Given the description of an element on the screen output the (x, y) to click on. 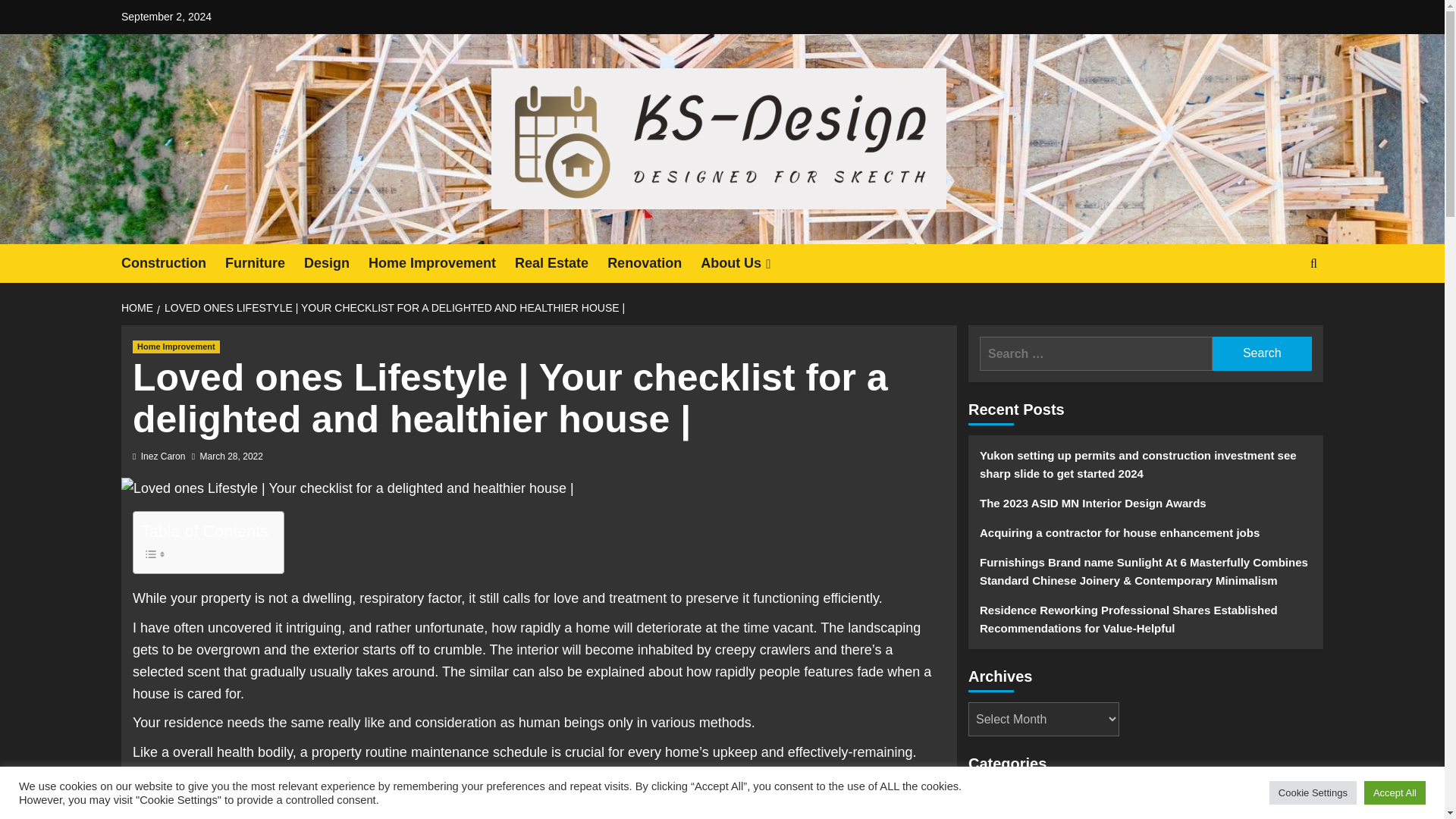
Search (1278, 309)
Inez Caron (163, 456)
Renovation (653, 263)
Home Improvement (175, 346)
Home Improvement (441, 263)
Design (336, 263)
Real Estate (561, 263)
Construction (172, 263)
March 28, 2022 (231, 456)
About Us (746, 263)
